Given the description of an element on the screen output the (x, y) to click on. 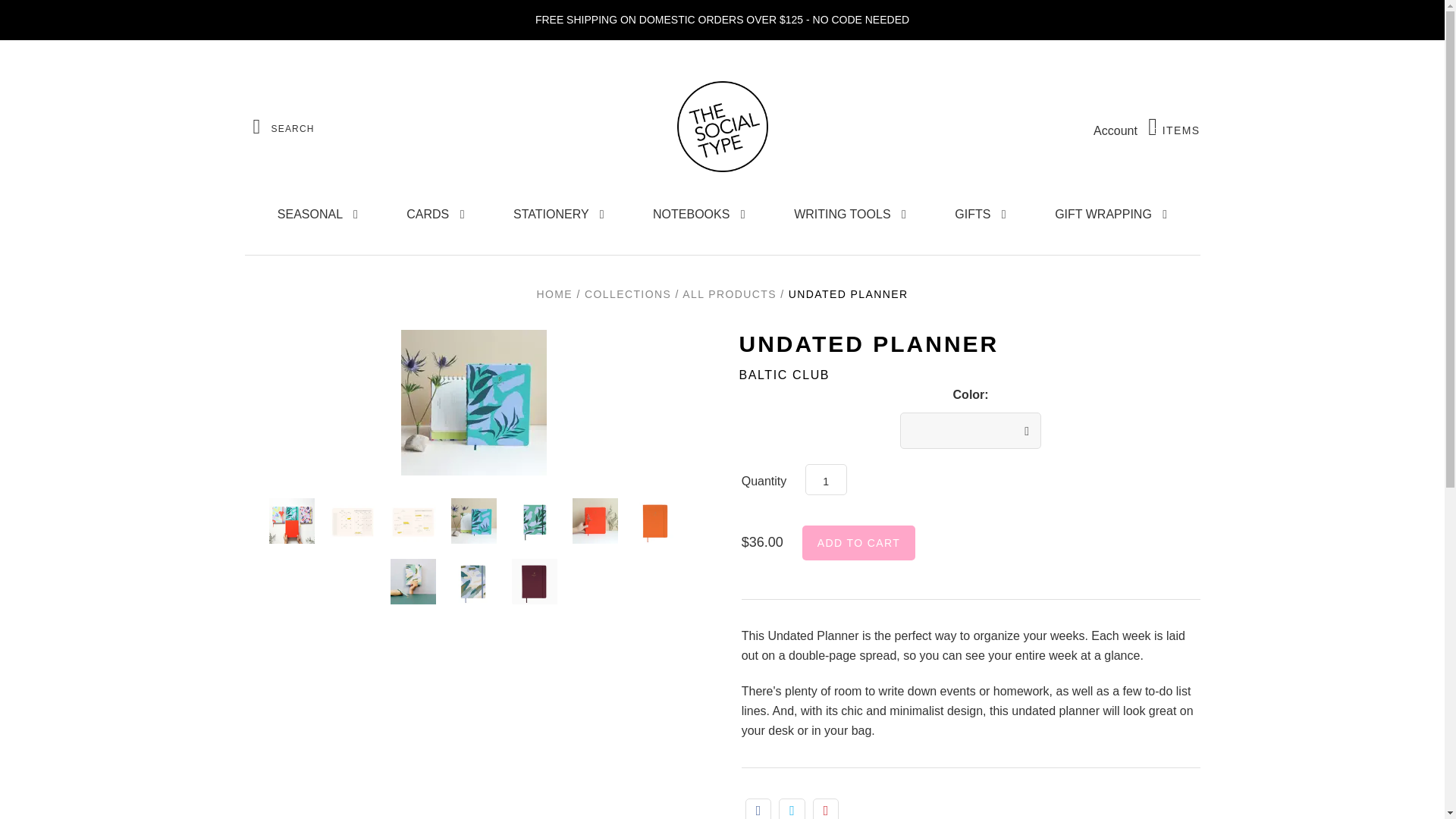
Add to cart (1173, 126)
SEASONAL (858, 542)
STATIONERY (317, 214)
1 (558, 214)
Account (826, 479)
CARDS (1115, 130)
